Given the description of an element on the screen output the (x, y) to click on. 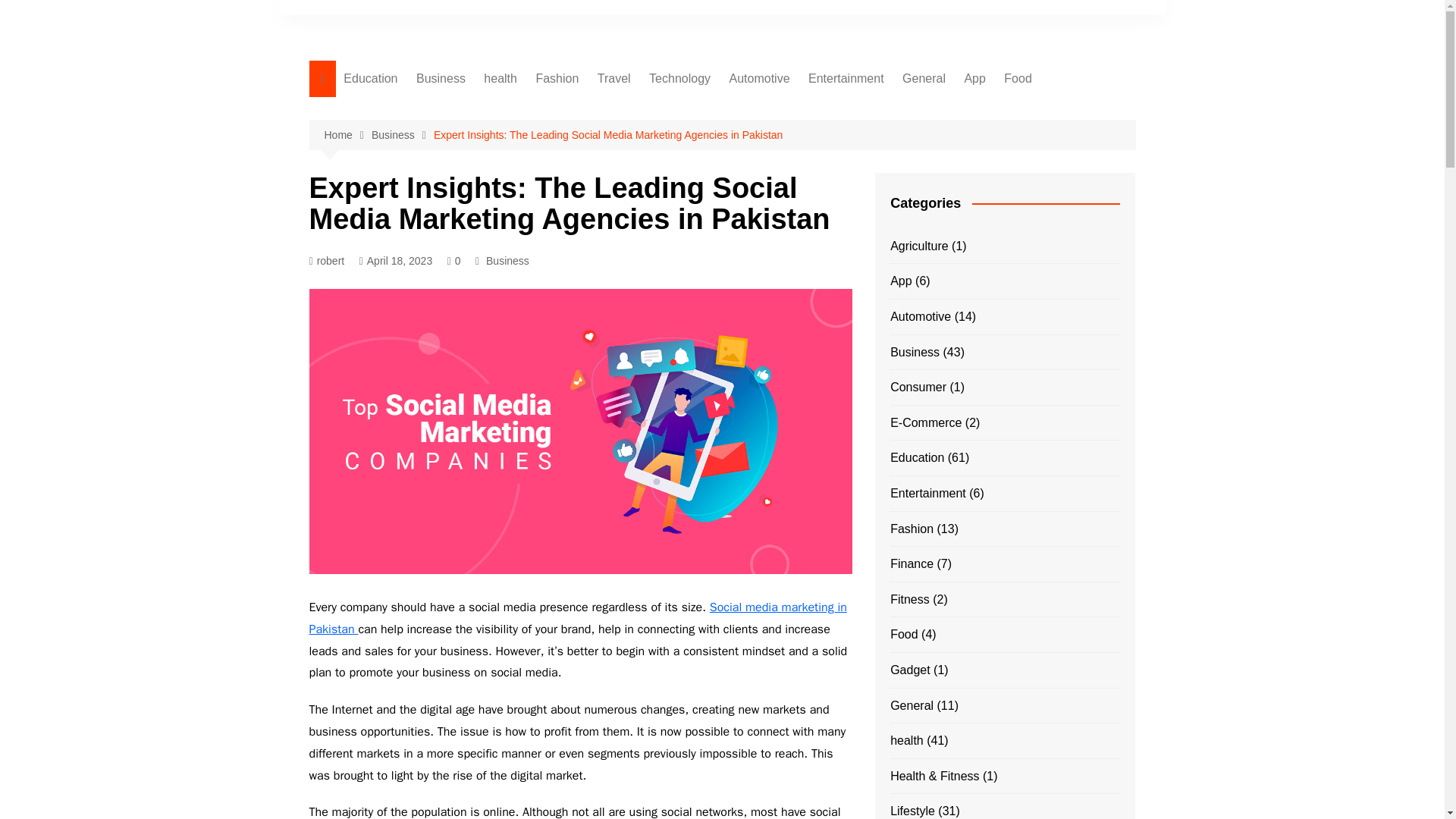
General (924, 78)
Technology (679, 78)
health (500, 78)
April 18, 2023 (395, 261)
Business (441, 78)
Food (1017, 78)
Education (370, 78)
Social media marketing in Pakistan (577, 618)
robert (326, 261)
Fashion (556, 78)
Travel (614, 78)
Automotive (758, 78)
Home (347, 135)
Business (402, 135)
